Given the description of an element on the screen output the (x, y) to click on. 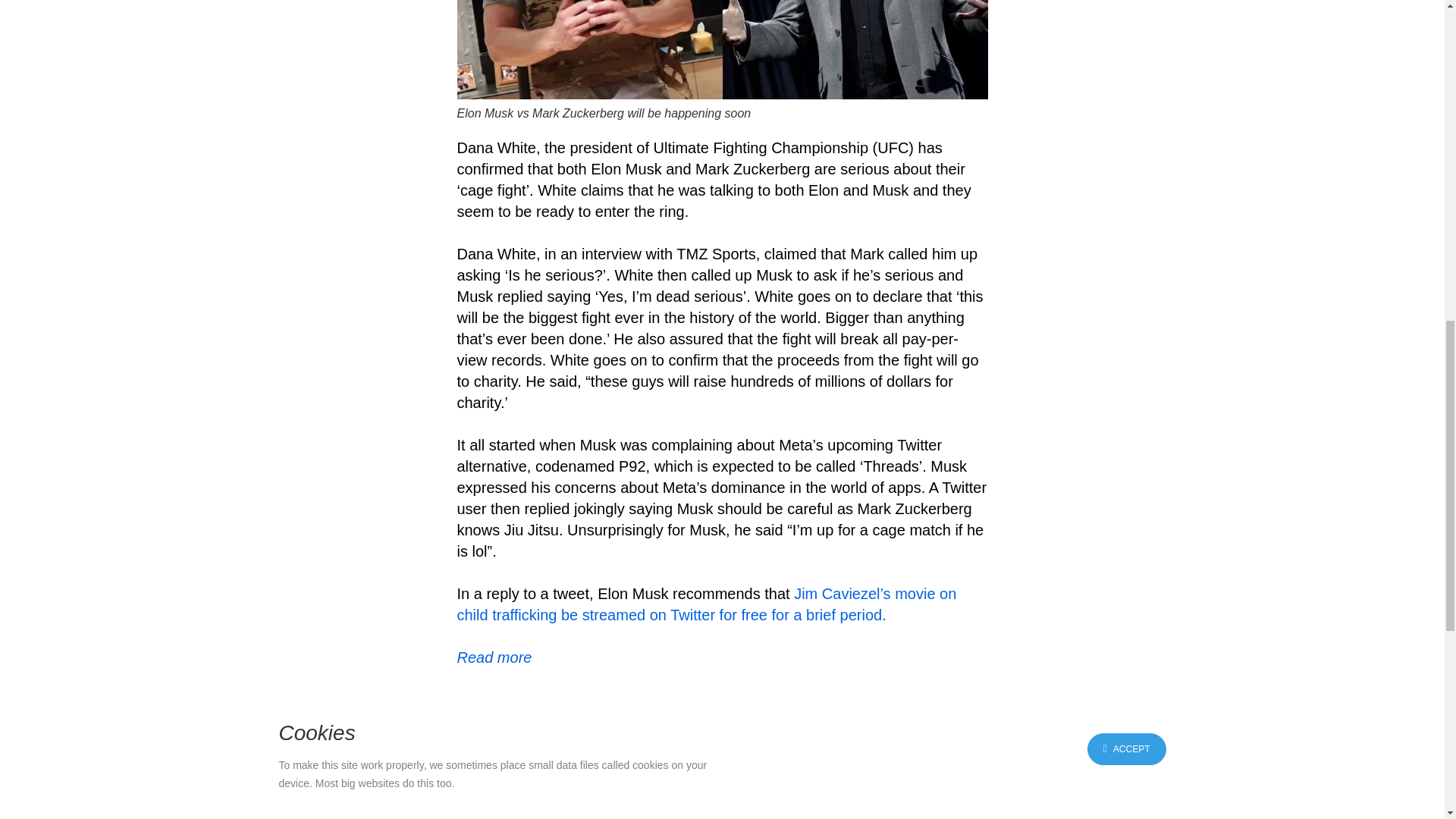
Read more (494, 657)
